Given the description of an element on the screen output the (x, y) to click on. 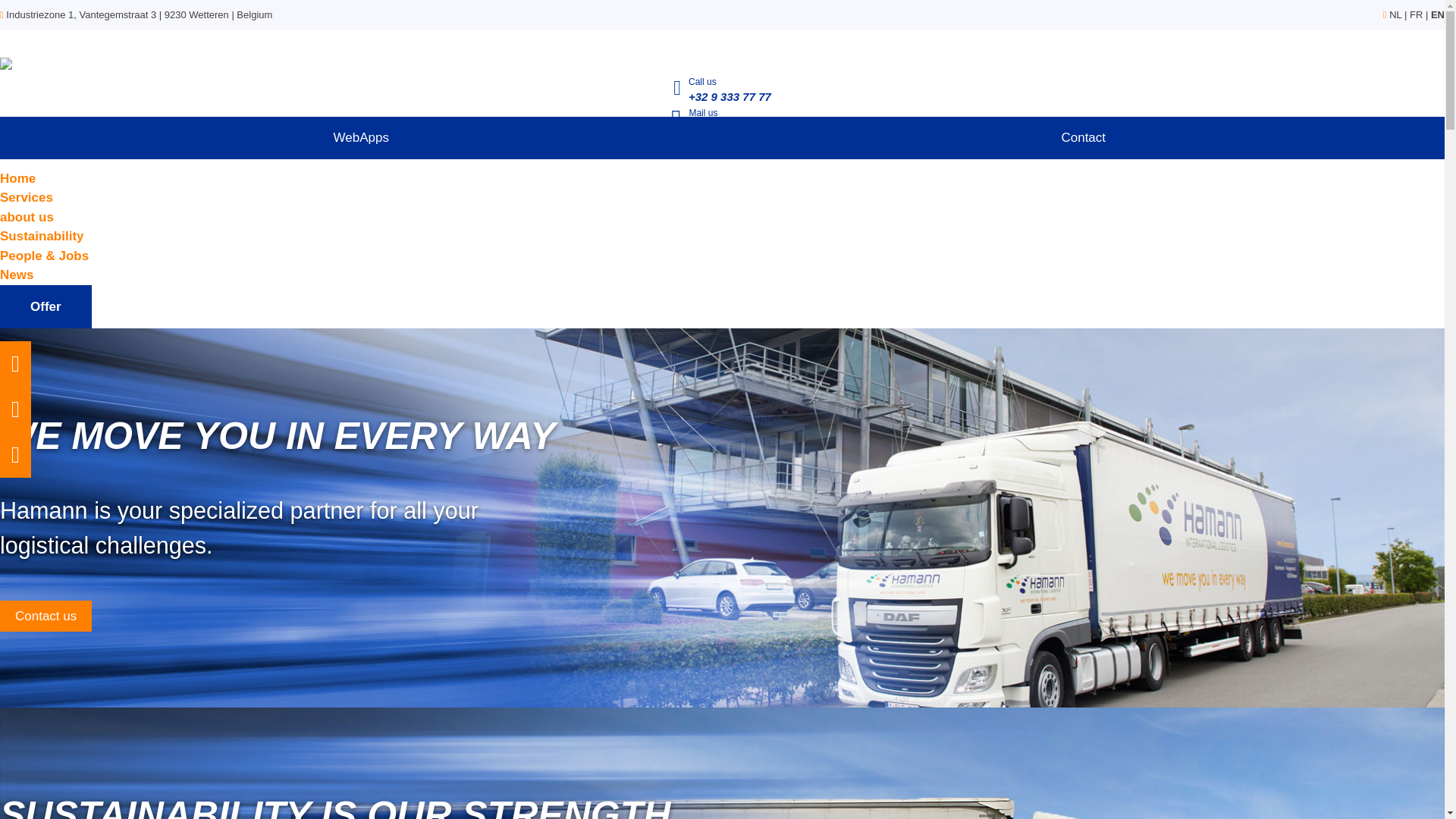
Offer (45, 306)
WebApps (361, 137)
FR (1415, 14)
NL (1394, 14)
Contact us (45, 616)
